Given the description of an element on the screen output the (x, y) to click on. 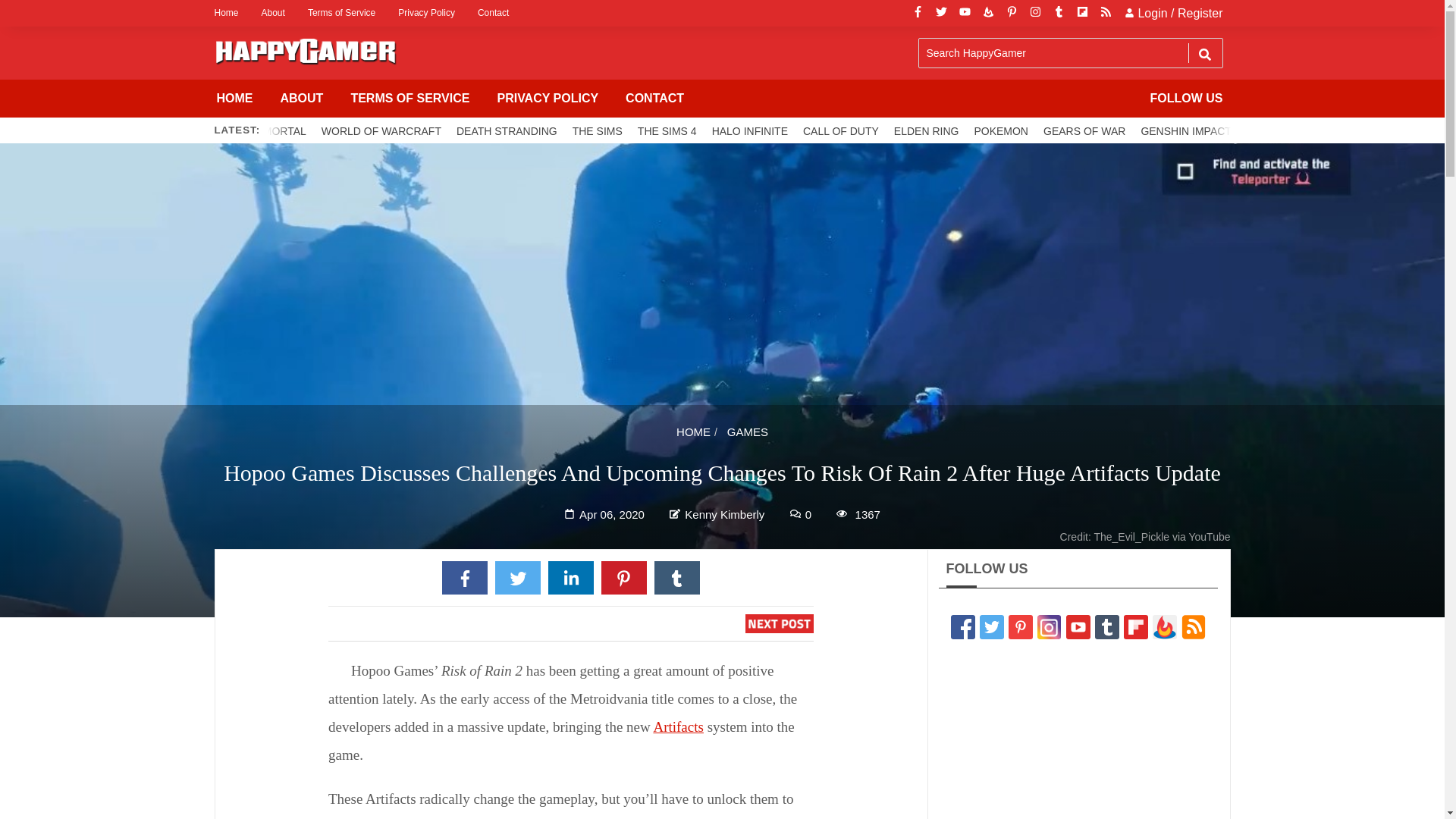
Privacy Policy (426, 13)
THE SIMS (597, 130)
About (273, 13)
CONTACT (654, 98)
Contact (492, 13)
DIABLO IMMORTAL (258, 130)
WORLD OF WARCRAFT (381, 130)
Terms of Service (342, 13)
DEATH STRANDING (506, 130)
Contact (492, 13)
THE SIMS 4 (667, 130)
HALO INFINITE (749, 130)
PRIVACY POLICY (547, 98)
Home (231, 13)
HOME (234, 98)
